Given the description of an element on the screen output the (x, y) to click on. 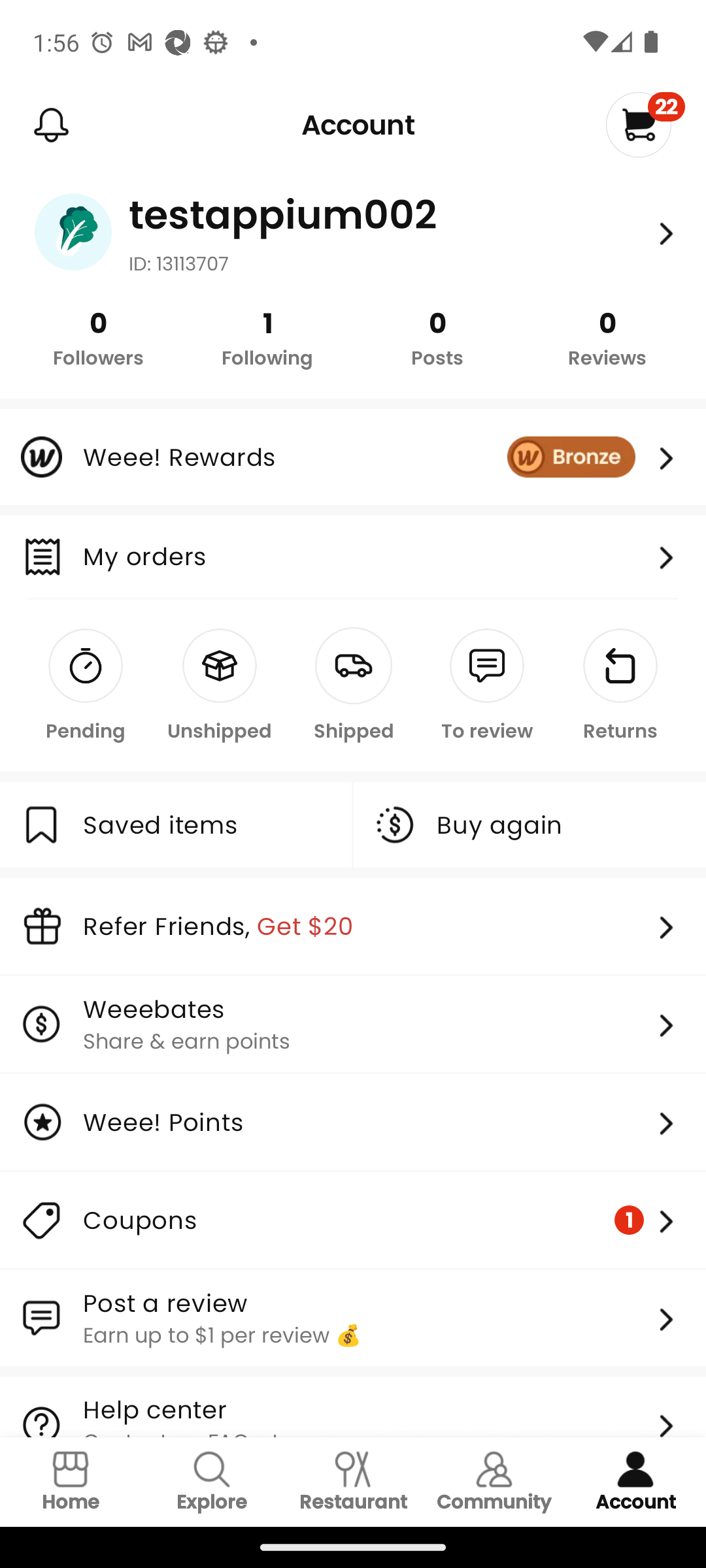
22 (644, 124)
0 Followers (98, 337)
1 Following (267, 337)
0 Posts (437, 337)
0 Reviews (606, 337)
Weee! Rewards (353, 456)
My orders (383, 556)
Pending (86, 685)
Unshipped (219, 685)
Shipped (353, 685)
To review (486, 685)
Returns (619, 685)
Saved items (175, 824)
Buy again (529, 824)
Refer Friends, Get $20 (353, 925)
Weeebates Share & earn points (353, 1023)
Weee! Points (353, 1121)
Coupons 1 (353, 1220)
Post a review Earn up to $1 per review 💰 (353, 1317)
Help center Contact us, FAQ, etc. (353, 1406)
Home (70, 1482)
Explore (211, 1482)
Restaurant (352, 1482)
Community (493, 1482)
Account (635, 1482)
